Given the description of an element on the screen output the (x, y) to click on. 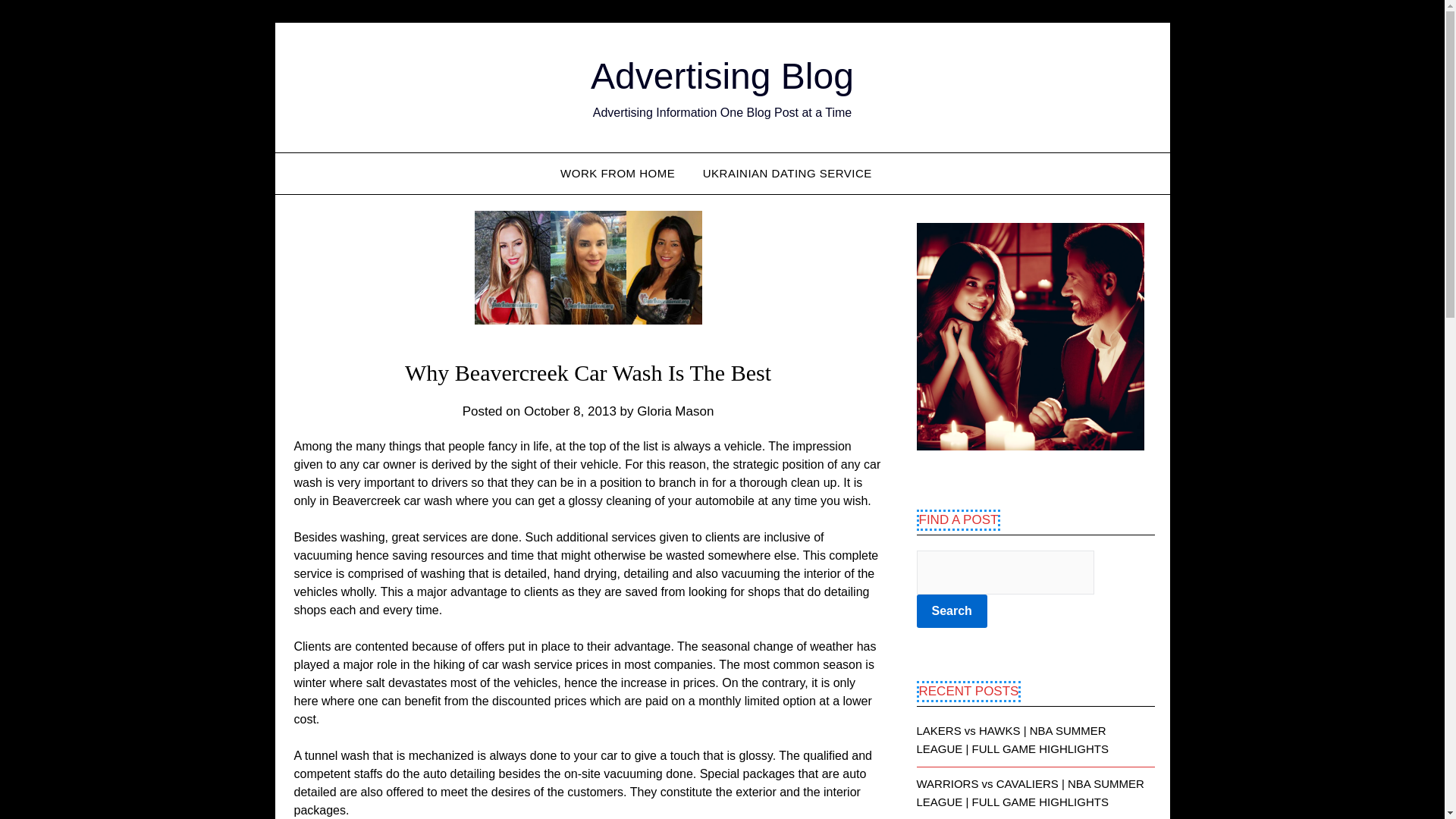
WORK FROM HOME (623, 173)
Search (951, 611)
October 8, 2013 (569, 411)
UKRAINIAN DATING SERVICE (786, 173)
Search (951, 611)
Advertising Blog (722, 76)
Gloria Mason (675, 411)
